Given the description of an element on the screen output the (x, y) to click on. 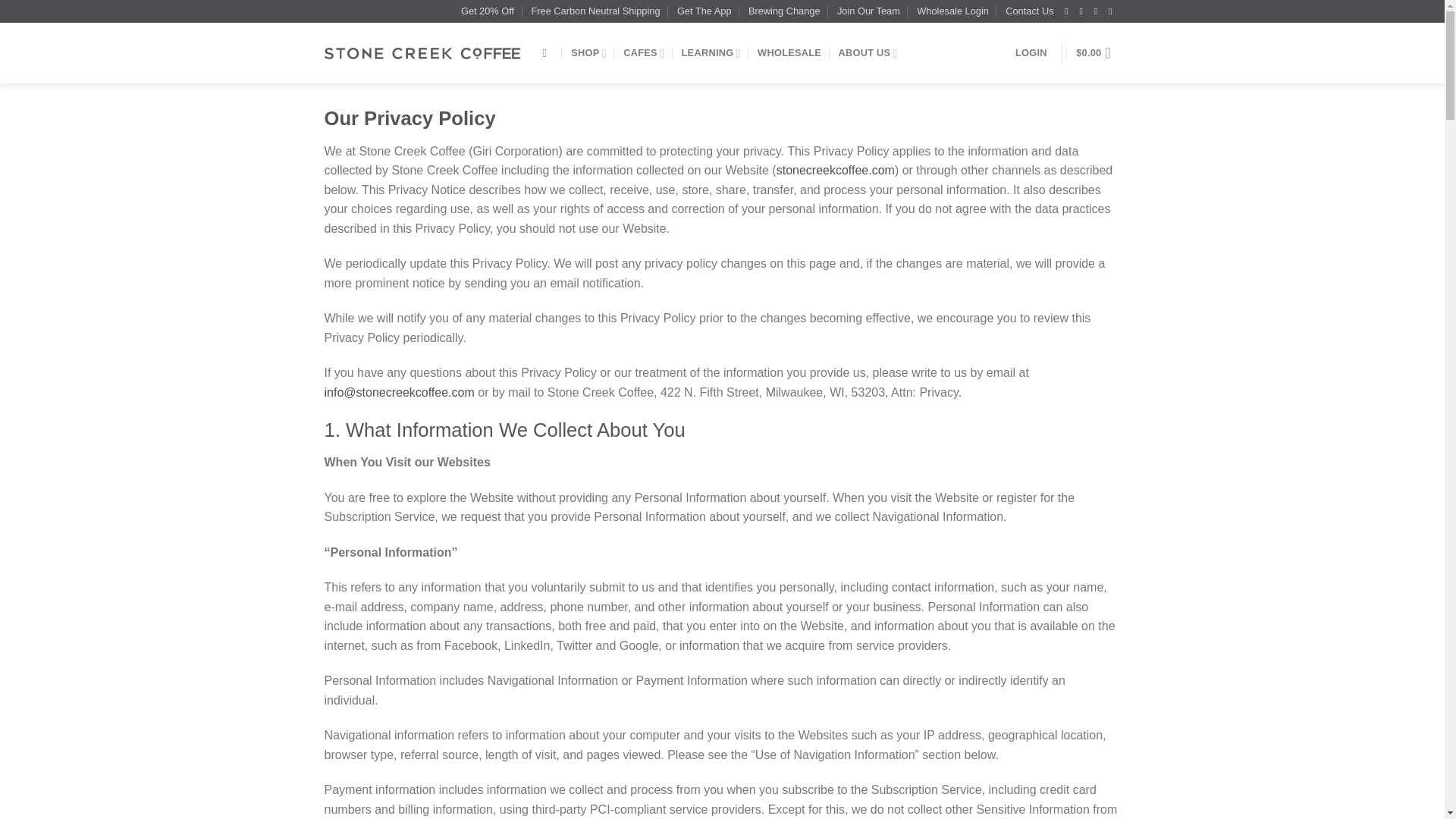
Login (1030, 52)
ABOUT US (868, 52)
Wholesale Login (952, 11)
Join Our Team (868, 11)
CAFES (643, 52)
Get The App (704, 11)
Contact Us (1029, 11)
WHOLESALE (789, 52)
SHOP (588, 52)
